Given the description of an element on the screen output the (x, y) to click on. 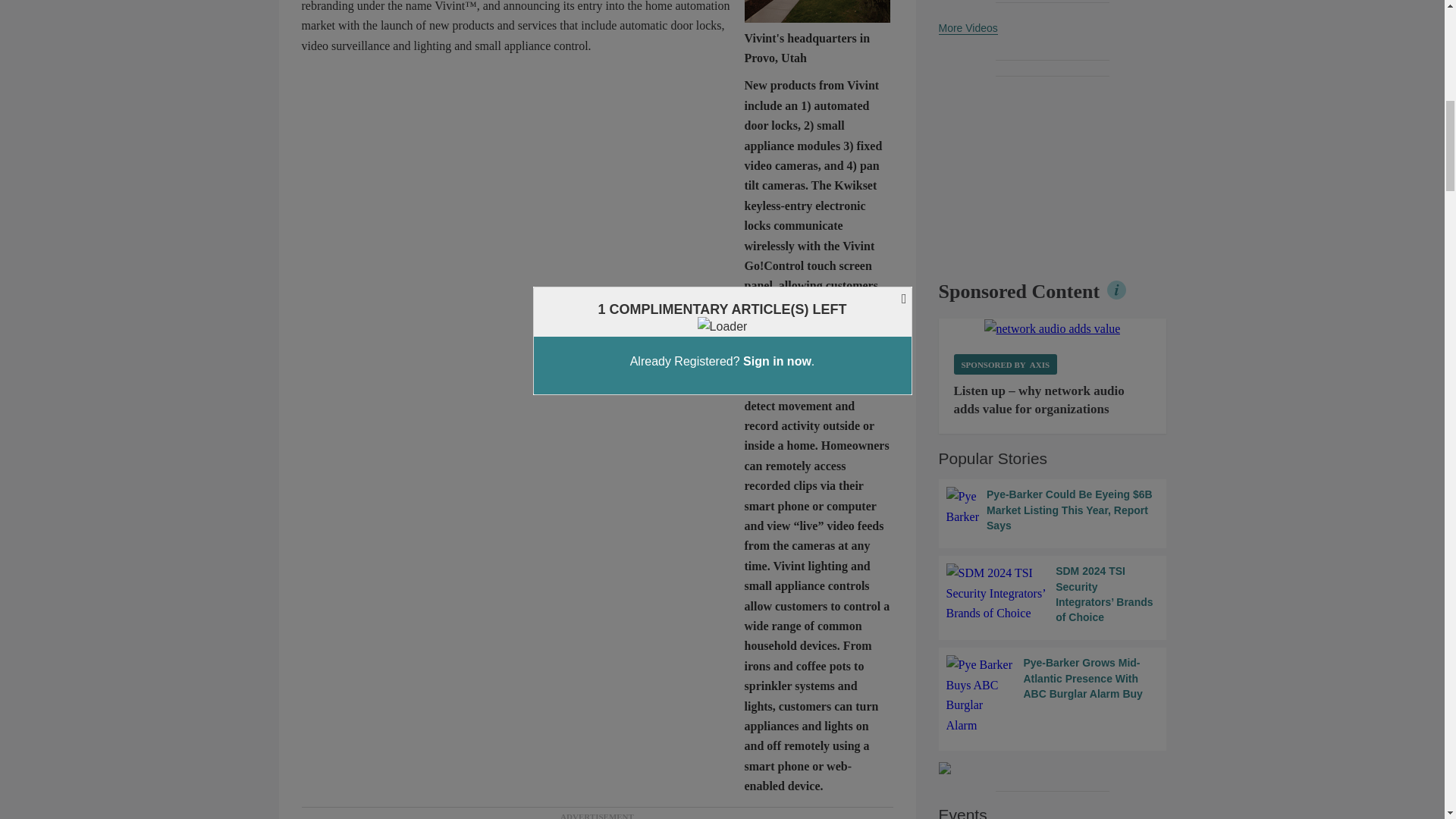
Axis Communications (1052, 329)
Sponsored by Axis  (1005, 363)
